Given the description of an element on the screen output the (x, y) to click on. 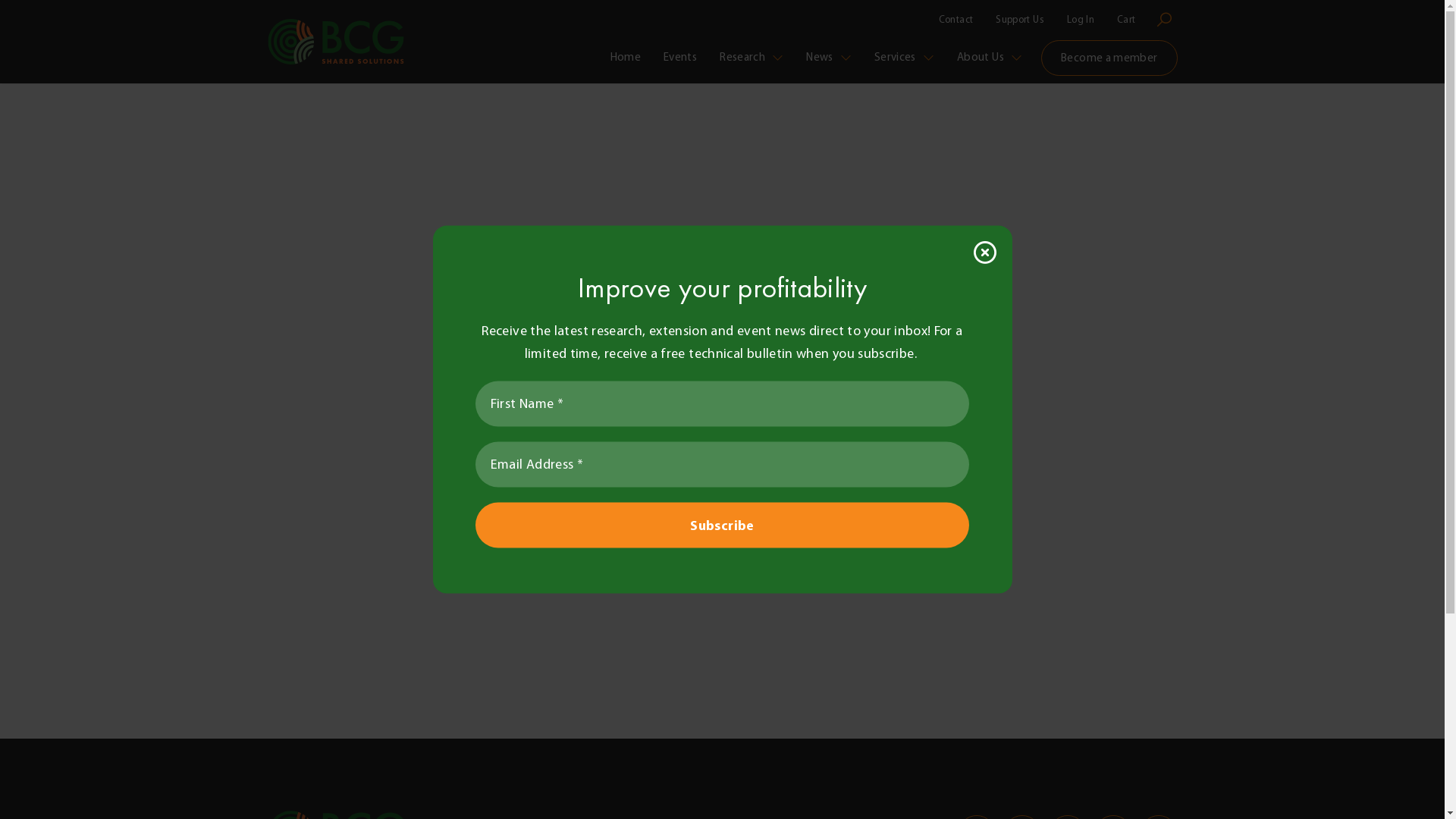
Cart Element type: text (1126, 19)
Events Element type: text (679, 57)
Return home Element type: text (722, 477)
News Element type: text (828, 57)
Log In Element type: text (1080, 19)
Search Element type: text (1163, 19)
Contact Element type: text (956, 19)
First Name Element type: hover (722, 403)
Home Element type: text (625, 57)
Subscribe Element type: text (722, 524)
Become a member Element type: text (1109, 57)
About Us Element type: text (989, 57)
Email Address Element type: hover (722, 463)
Services Element type: text (904, 57)
Support Us Element type: text (1019, 19)
Research Element type: text (751, 57)
